Given the description of an element on the screen output the (x, y) to click on. 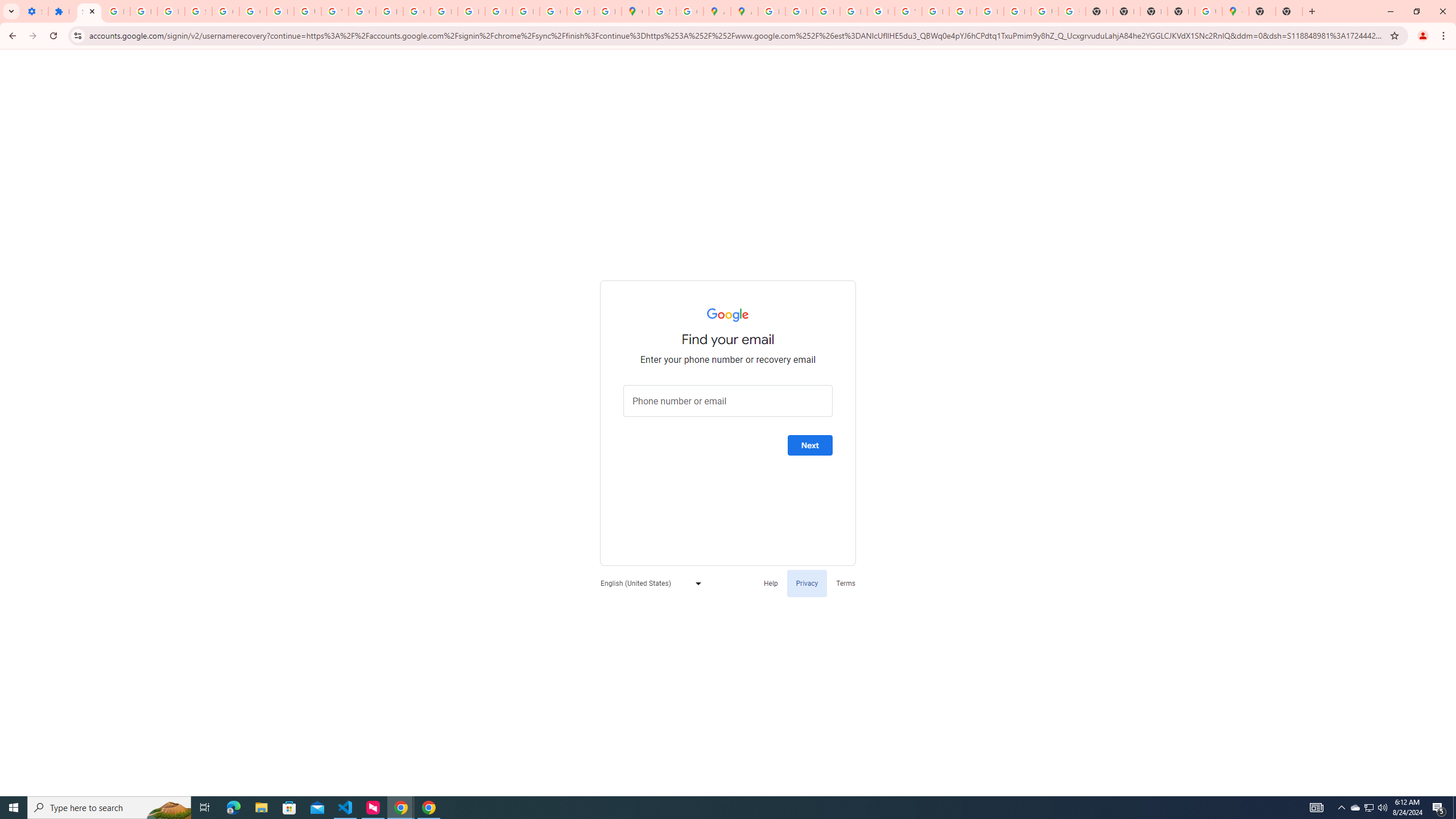
Next (809, 445)
Terms (845, 583)
Google Maps (1235, 11)
New Tab (1289, 11)
Google Account Help (253, 11)
Google Account Help (225, 11)
